Given the description of an element on the screen output the (x, y) to click on. 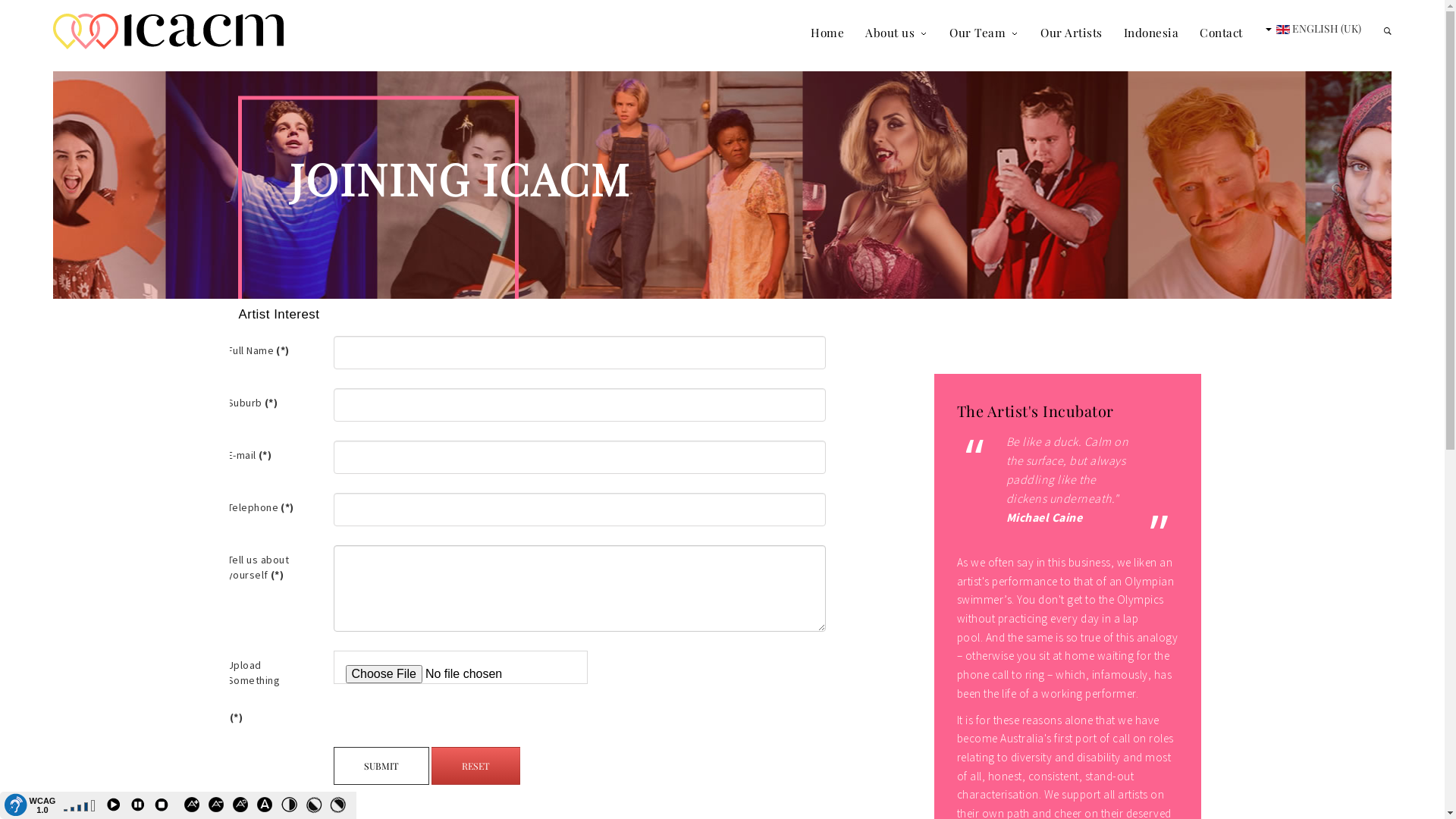
Contact Element type: text (1220, 32)
Indonesia Element type: text (1151, 32)
Home Element type: text (827, 32)
About us Element type: text (889, 32)
About us Element type: text (896, 31)
Our Team Element type: text (977, 32)
  ENGLISH (UK) Element type: text (1310, 28)
Submit Element type: text (381, 765)
Our Team Element type: text (984, 31)
Our Artists Element type: text (1071, 32)
Reset Element type: text (475, 765)
